Given the description of an element on the screen output the (x, y) to click on. 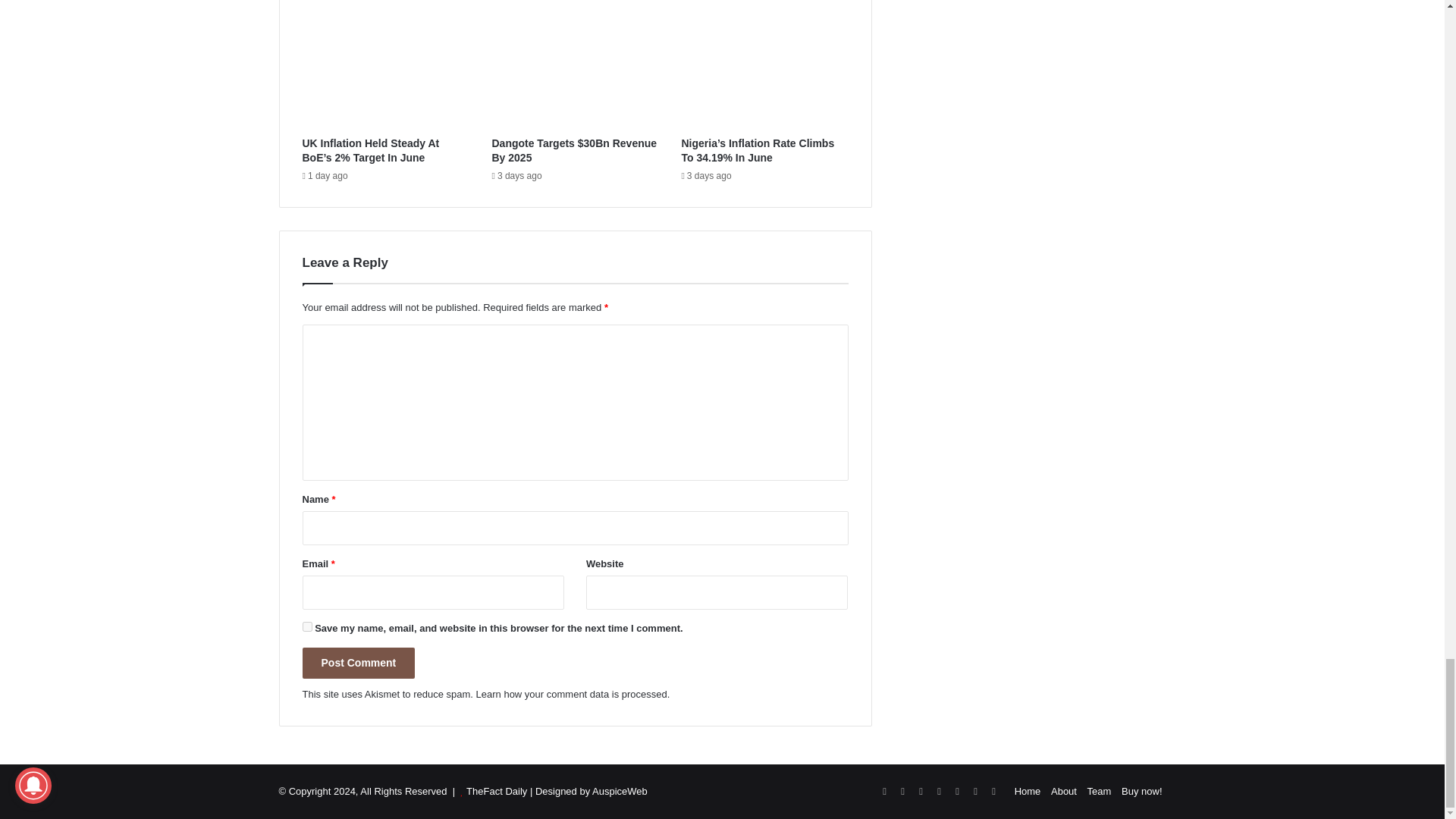
yes (306, 626)
Post Comment (357, 662)
